Given the description of an element on the screen output the (x, y) to click on. 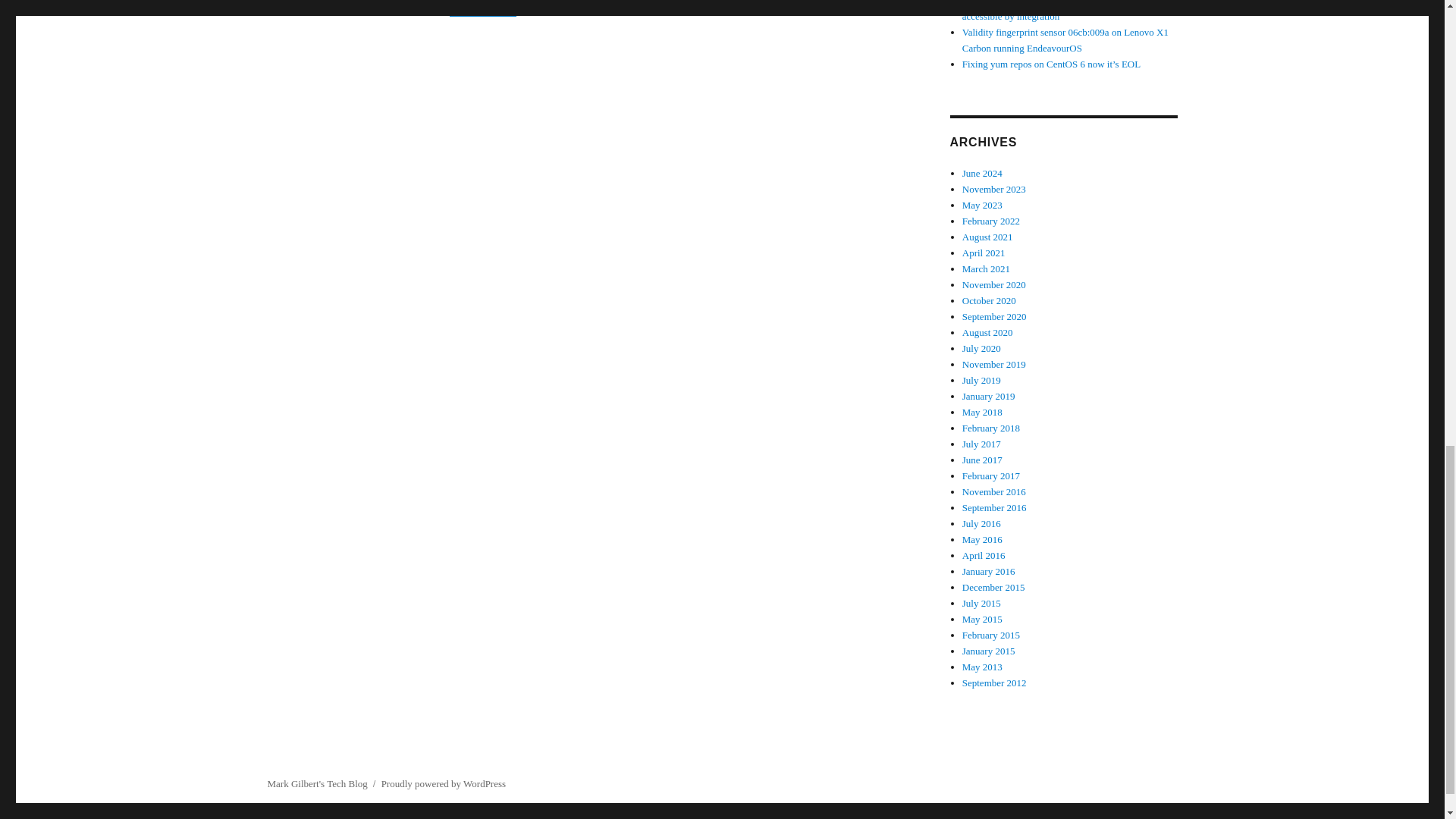
closed topic on the Sonos forums (665, 7)
